Given the description of an element on the screen output the (x, y) to click on. 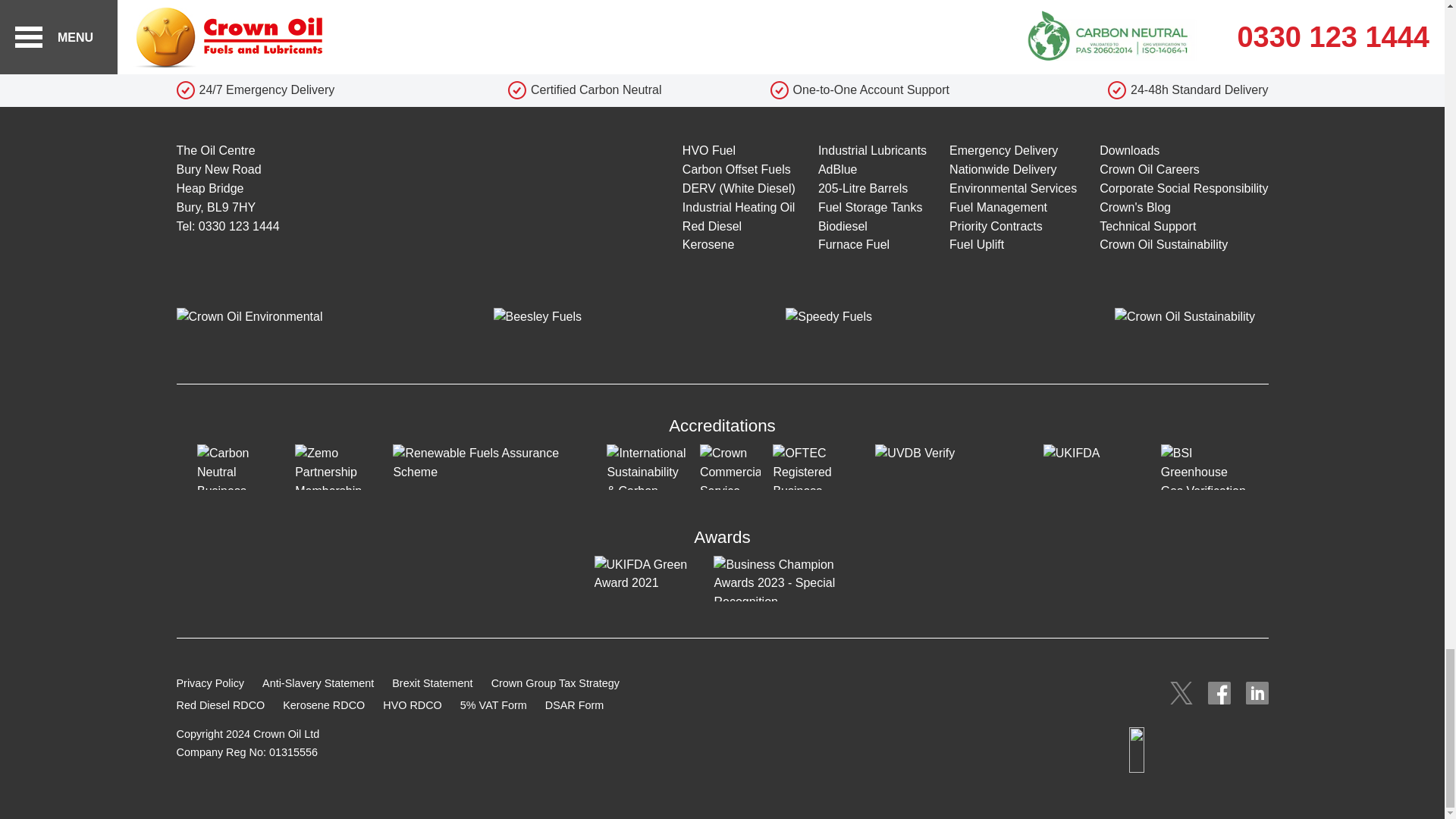
on (160, 76)
